Given the description of an element on the screen output the (x, y) to click on. 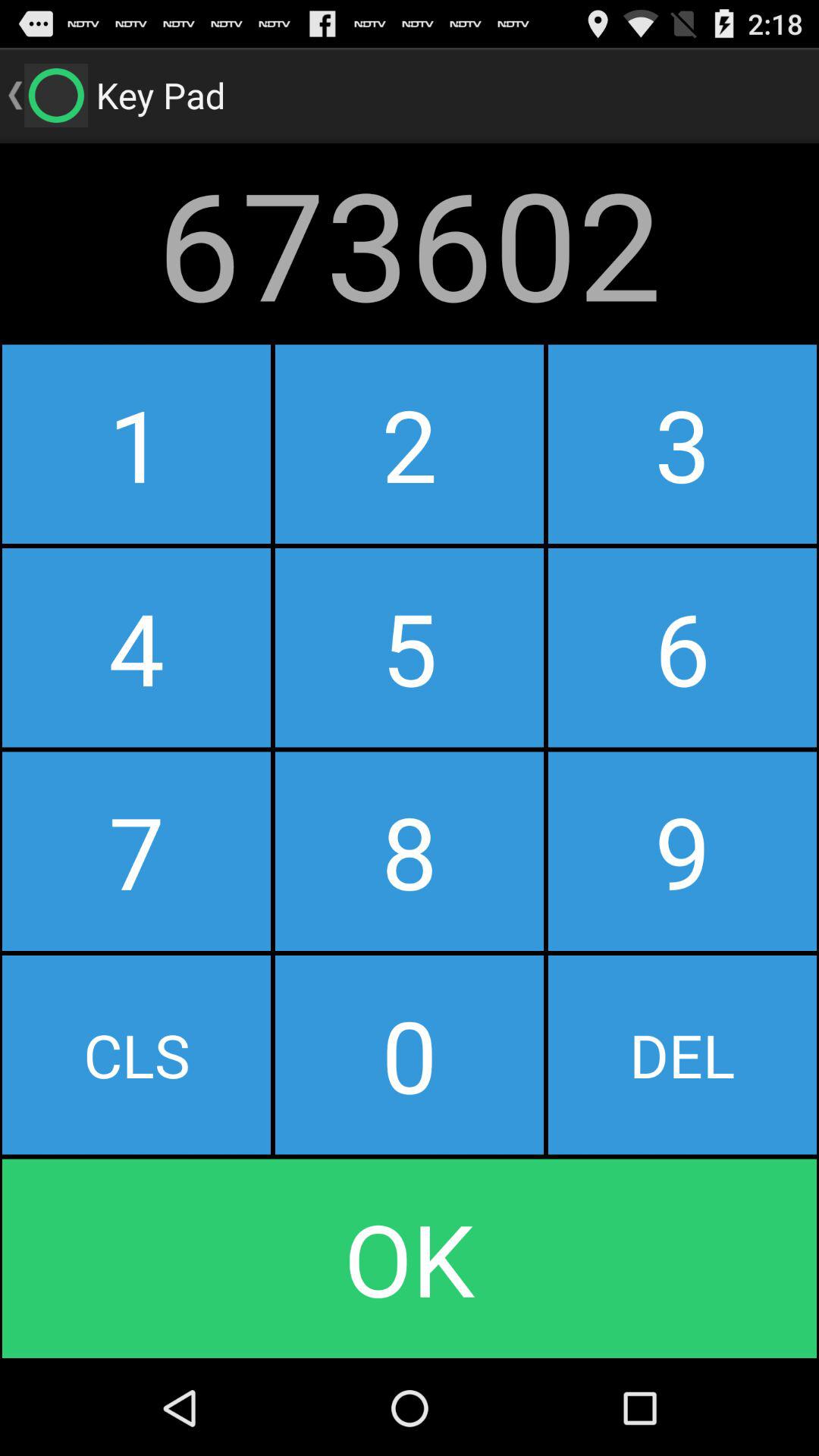
turn off the button next to the 8 item (136, 1054)
